Given the description of an element on the screen output the (x, y) to click on. 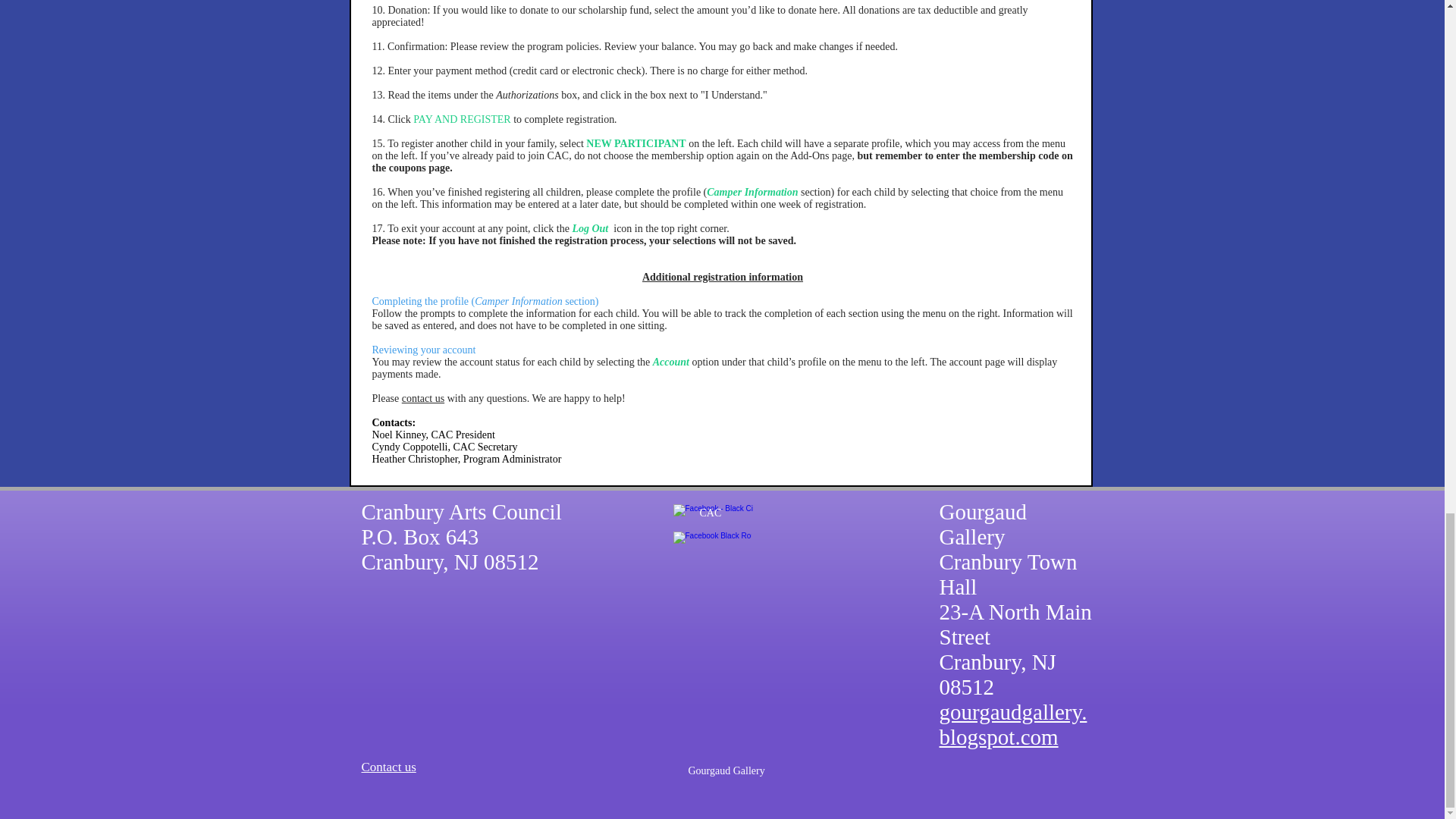
Contact us (387, 766)
gourgaudgallery.blogspot.co (1012, 724)
contact us (422, 398)
